Given the description of an element on the screen output the (x, y) to click on. 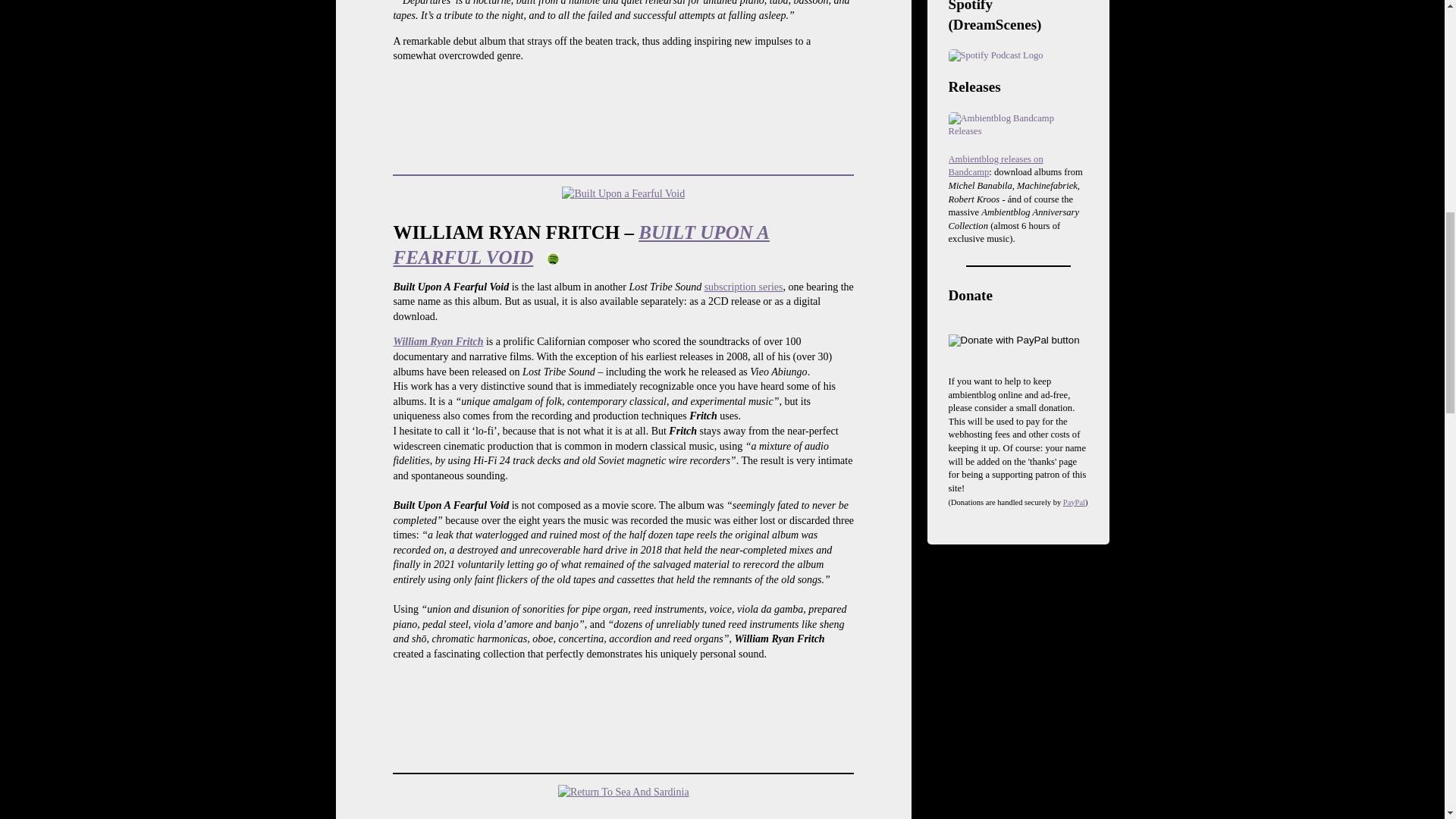
subscription series (743, 286)
William Ryan Fritch (438, 341)
BUILT UPON A FEARFUL VOID (580, 244)
